Given the description of an element on the screen output the (x, y) to click on. 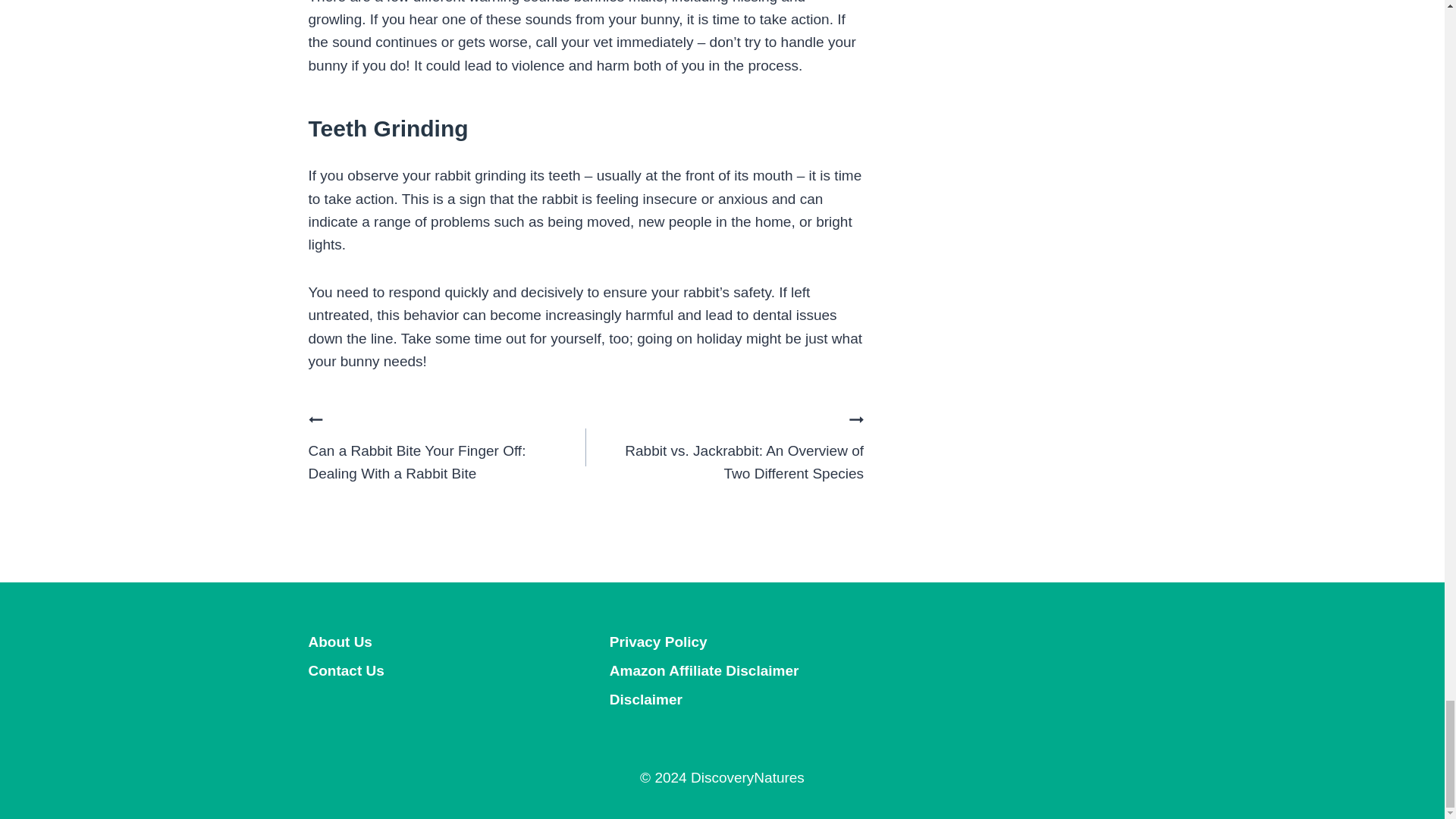
Disclaimer (722, 699)
Privacy Policy (722, 642)
Amazon Affiliate Disclaimer (722, 670)
Contact Us (419, 670)
About Us (419, 642)
